Given the description of an element on the screen output the (x, y) to click on. 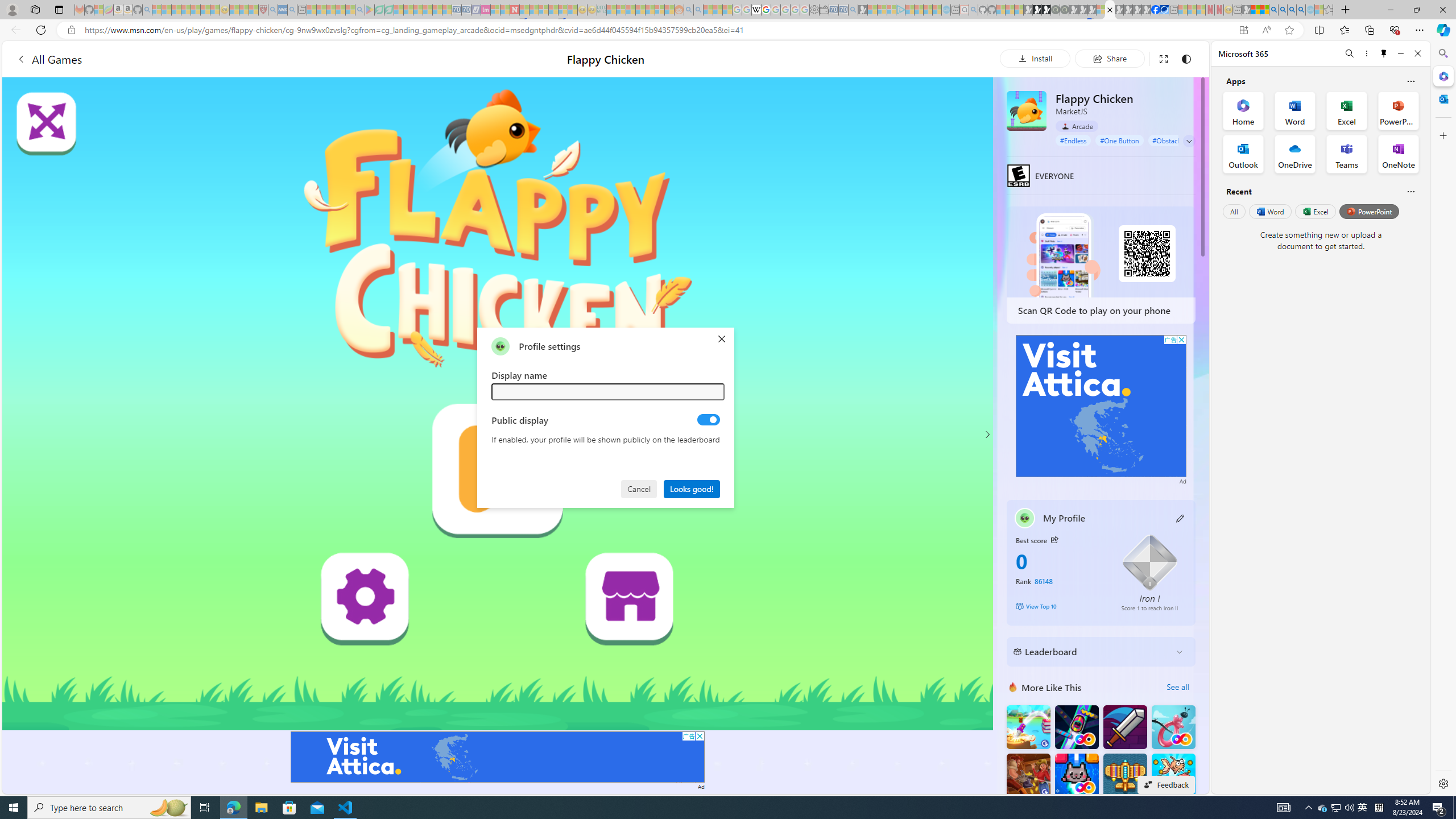
See all (1177, 687)
Looks good! (691, 488)
Fish Merge FRVR (1173, 775)
AutomationID: cbb (1181, 339)
Class: control (1188, 140)
OneNote Office App (1398, 154)
All Games (49, 58)
